Given the description of an element on the screen output the (x, y) to click on. 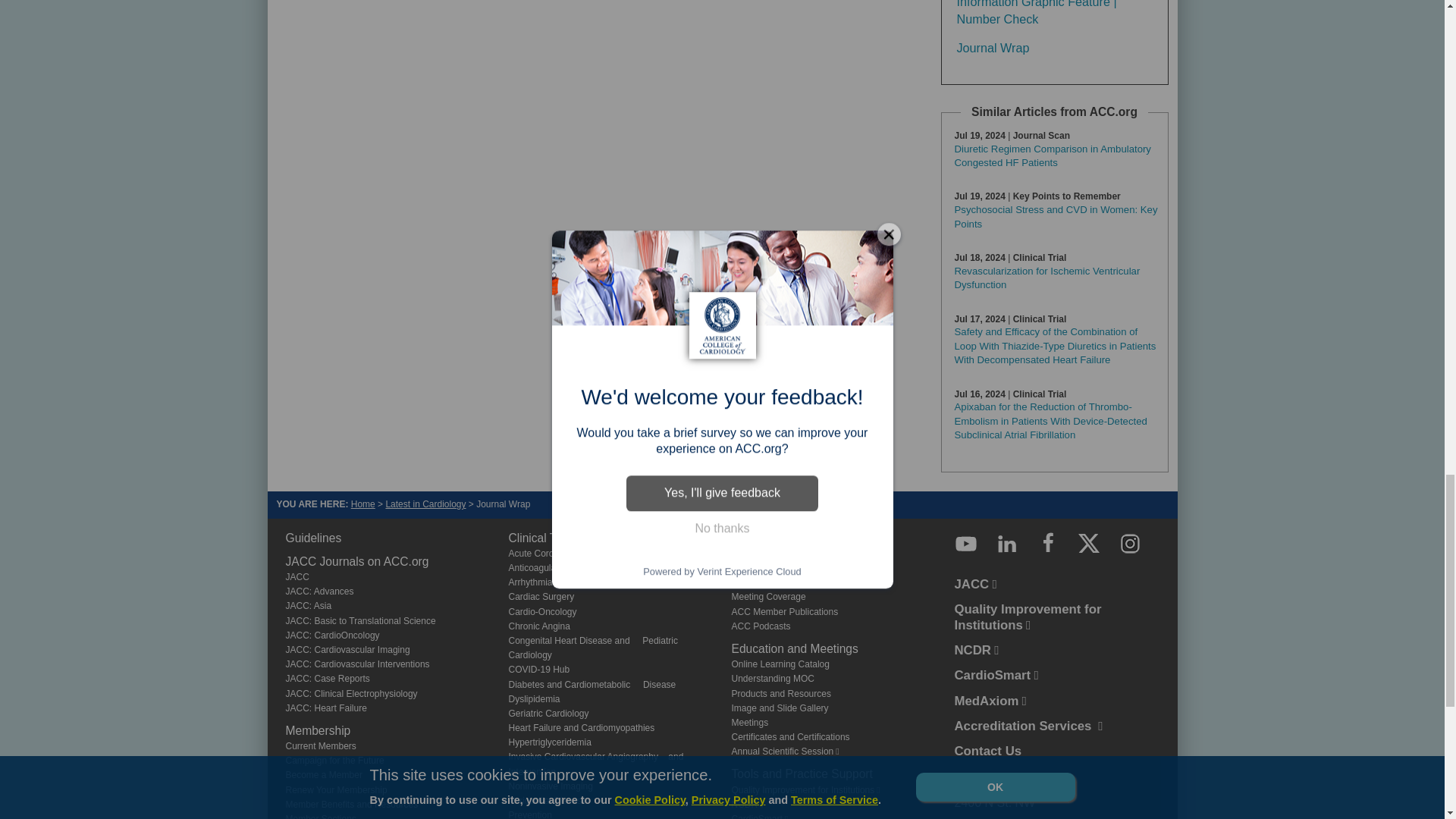
Guidelines (312, 537)
